Given the description of an element on the screen output the (x, y) to click on. 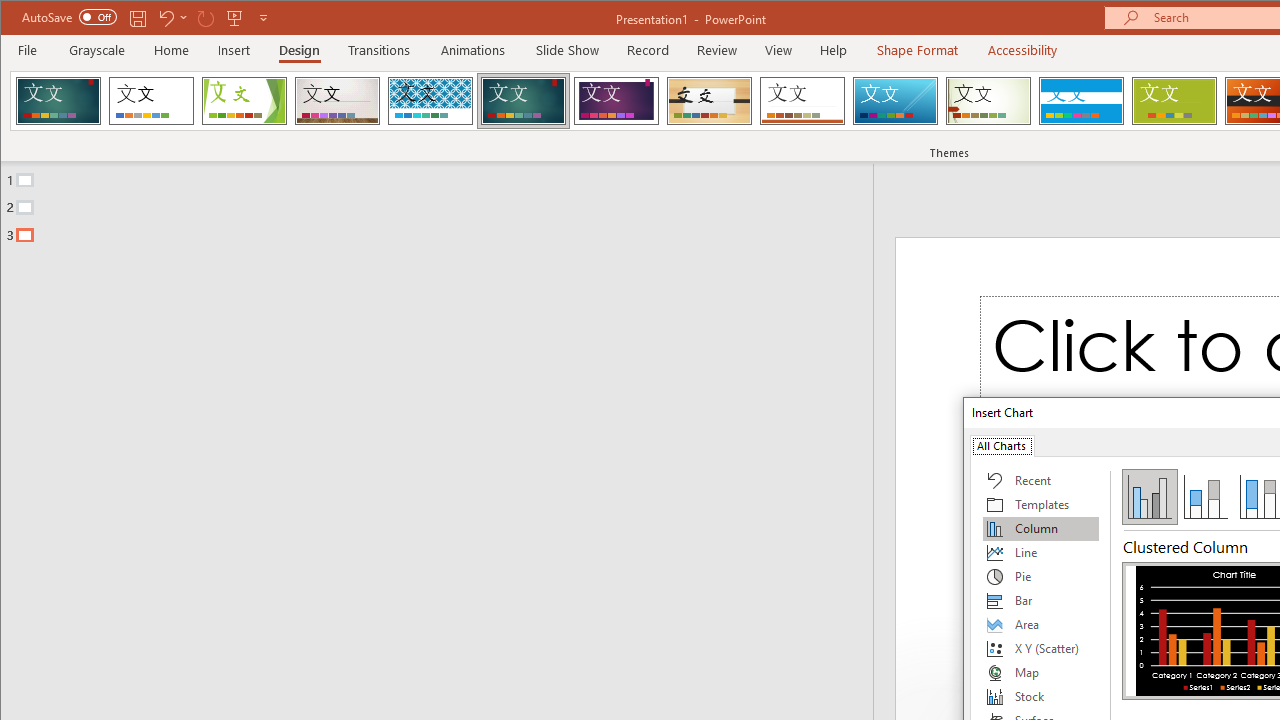
All Charts (1001, 444)
Templates (1041, 504)
Banded (1081, 100)
Recent (1041, 480)
Map (1041, 672)
Dividend (57, 100)
Gallery (337, 100)
